Given the description of an element on the screen output the (x, y) to click on. 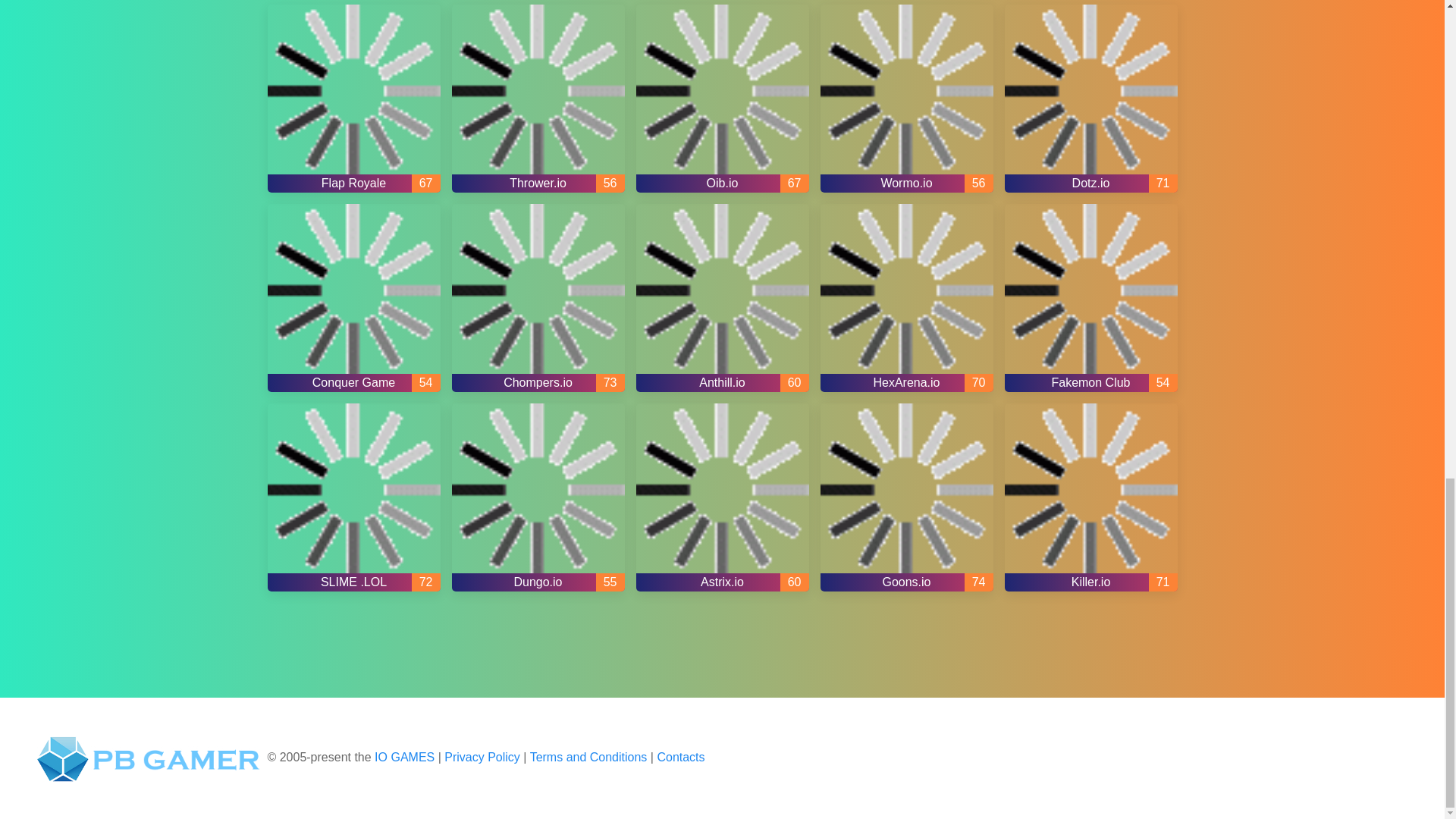
HexArena.io (906, 297)
Killer.io (1090, 497)
SLIME .LOL (352, 497)
Goons.io (906, 497)
Chompers.io (537, 297)
Astrix.io (721, 497)
Thrower.io (537, 98)
Oib.io (721, 98)
Conquer Game (352, 297)
Dungo.io (537, 497)
Dotz.io (1090, 98)
Fakemon Club (1090, 297)
Wormo.io (906, 98)
Anthill.io (721, 297)
Flap Royale (352, 98)
